Given the description of an element on the screen output the (x, y) to click on. 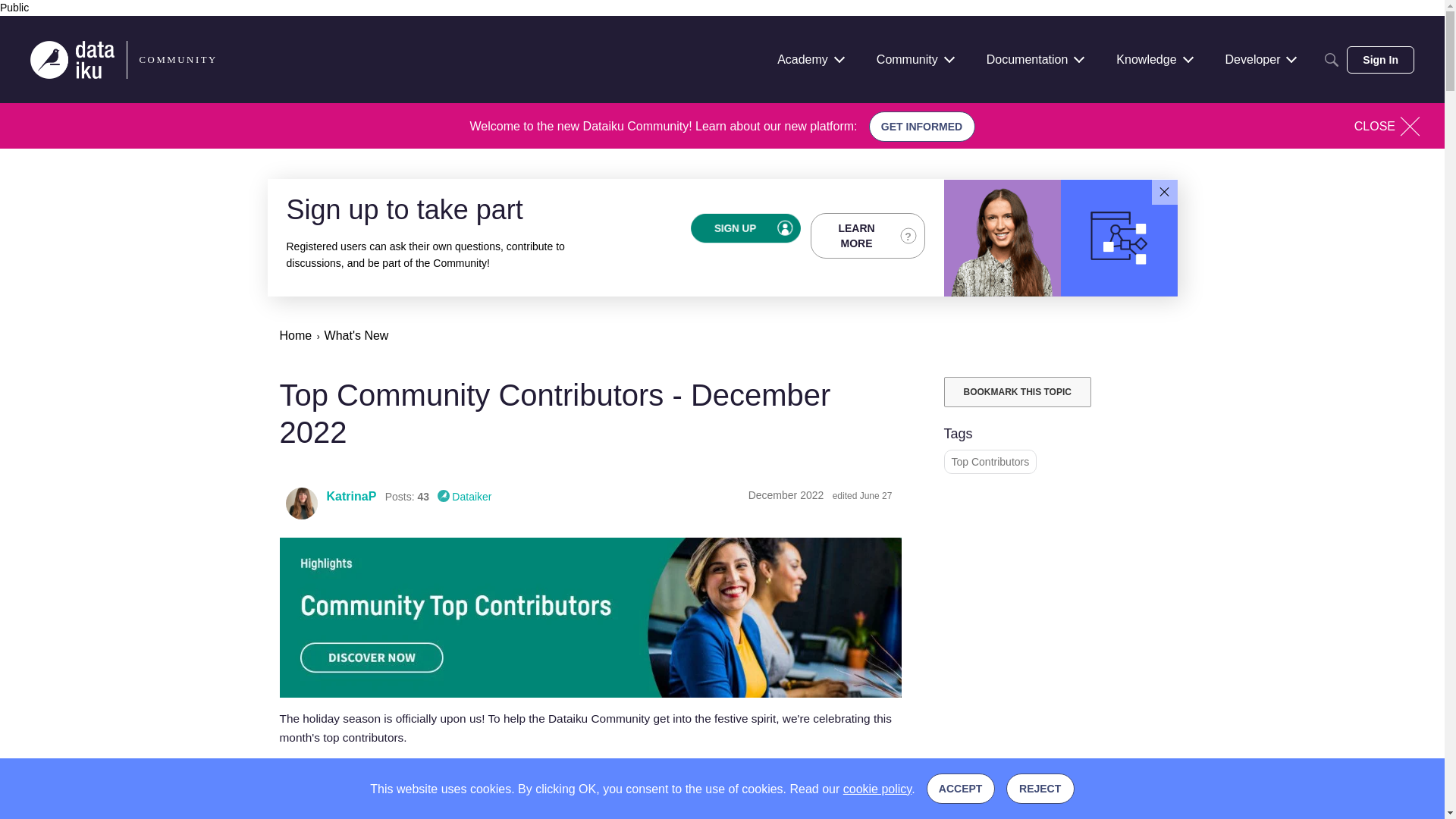
Dataiker (465, 495)
Search (1331, 58)
Academy (810, 59)
Community (914, 59)
Documentation (1034, 59)
December 15, 2022 11:27AM (786, 494)
KatrinaP (301, 503)
Edited June 27, 2024 10:28AM by Michael Grayson. (862, 495)
Knowledge (1153, 59)
